Given the description of an element on the screen output the (x, y) to click on. 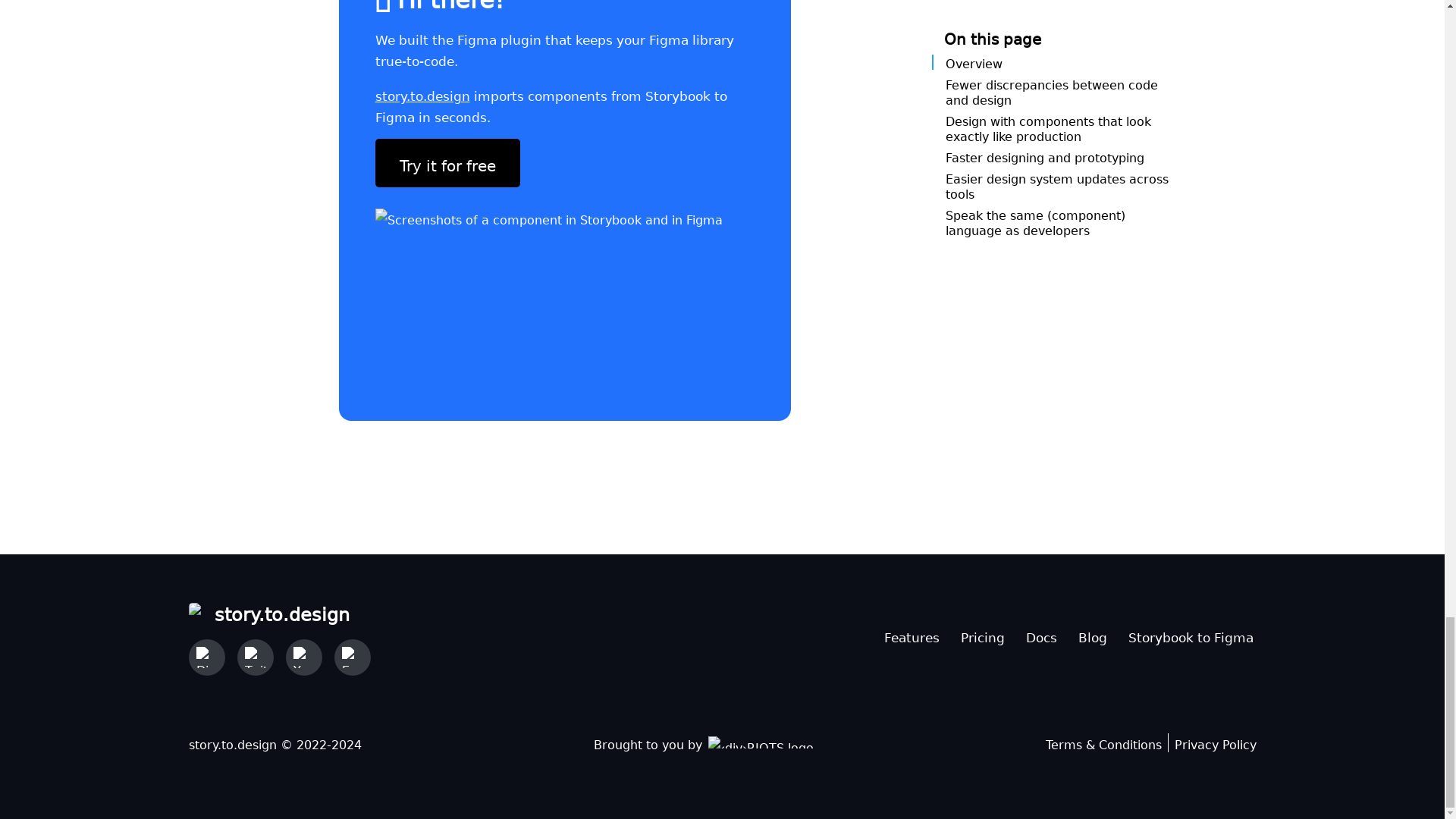
Docs (1041, 634)
Storybook to Figma (1190, 634)
Features (911, 634)
story.to.design (421, 93)
Blog (1092, 634)
story.to.design (278, 611)
Privacy Policy (1214, 742)
Pricing (981, 634)
Try it for free (446, 162)
